Given the description of an element on the screen output the (x, y) to click on. 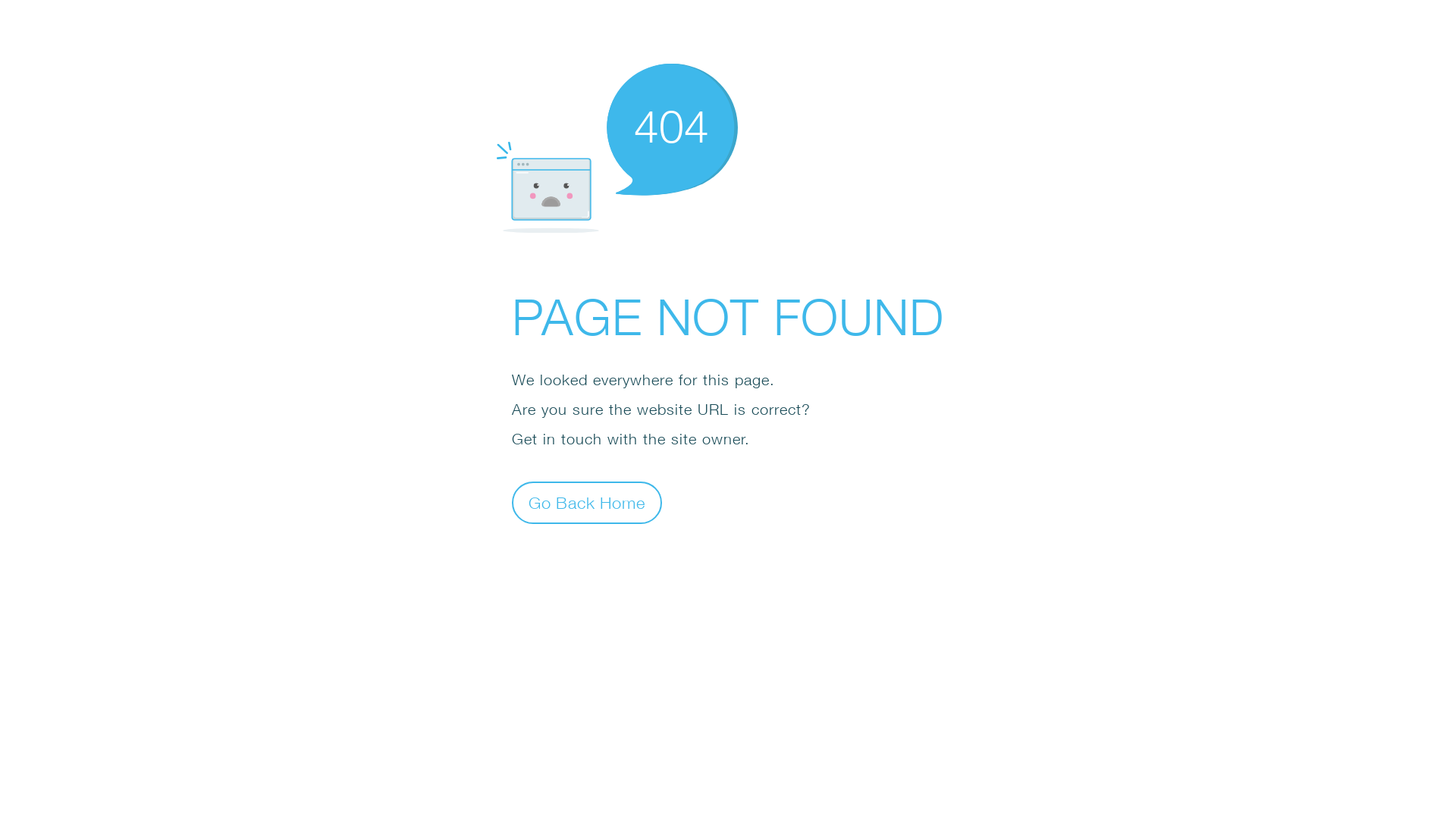
Go Back Home Element type: text (586, 502)
